Given the description of an element on the screen output the (x, y) to click on. 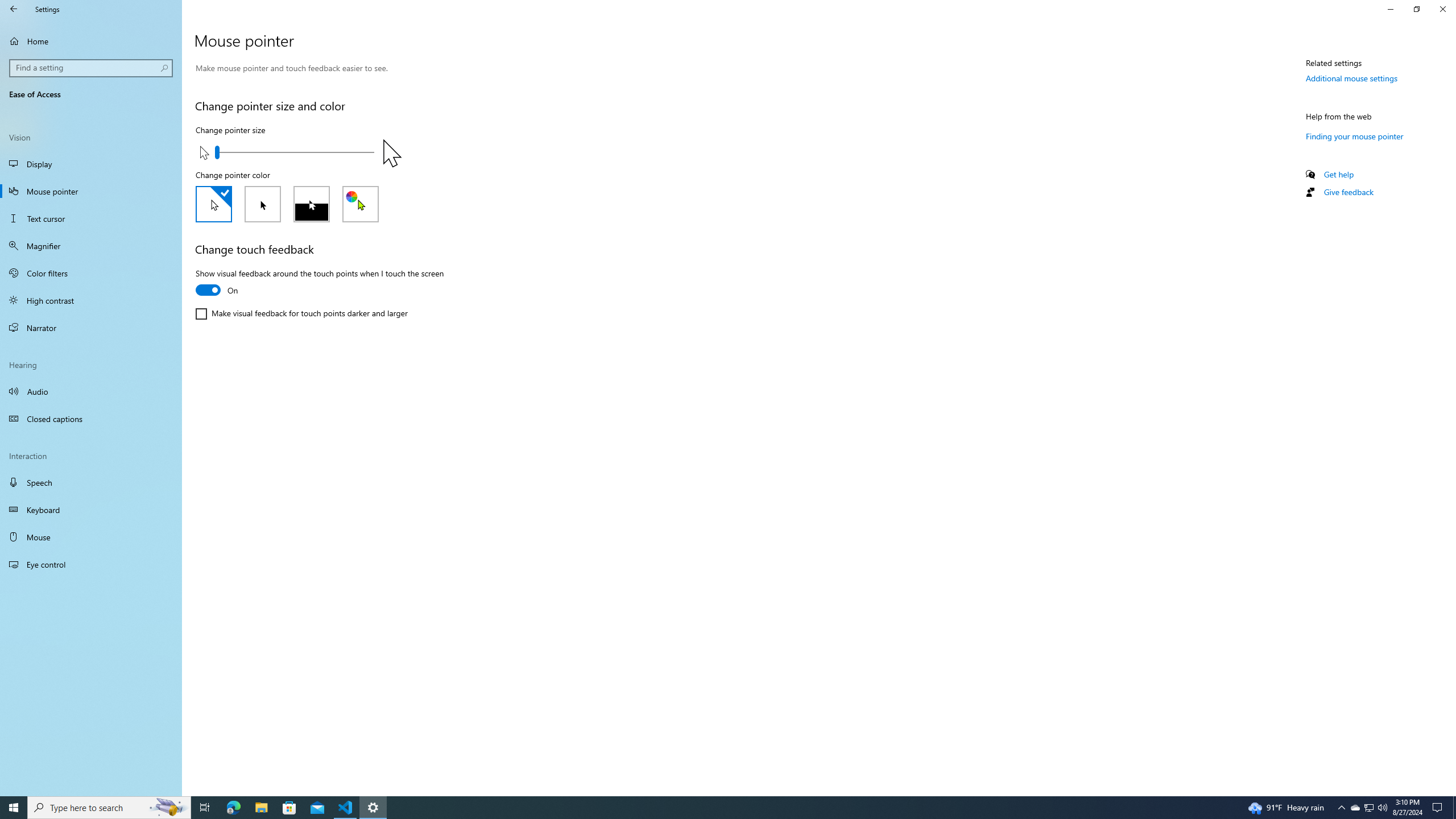
Black (262, 204)
Display (91, 163)
Eye control (91, 564)
Running applications (717, 807)
